Given the description of an element on the screen output the (x, y) to click on. 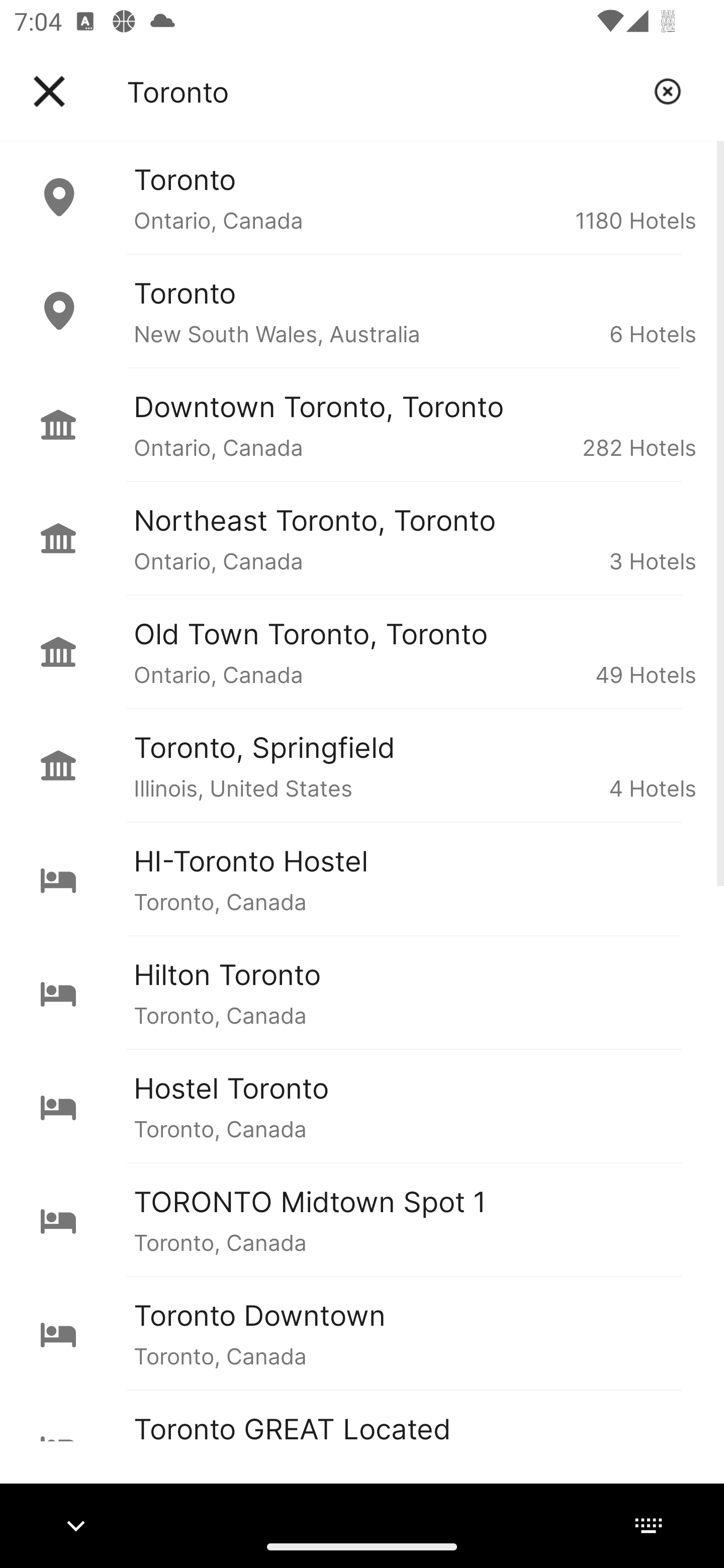
Toronto (382, 91)
Toronto Ontario, Canada 1180 Hotels (362, 197)
Toronto New South Wales, Australia 6 Hotels (362, 310)
HI-Toronto Hostel Toronto, Canada (362, 878)
Hilton Toronto Toronto, Canada (362, 992)
Hostel Toronto Toronto, Canada (362, 1105)
TORONTO Midtown Spot 1 Toronto, Canada (362, 1219)
Toronto Downtown Toronto, Canada (362, 1332)
